Given the description of an element on the screen output the (x, y) to click on. 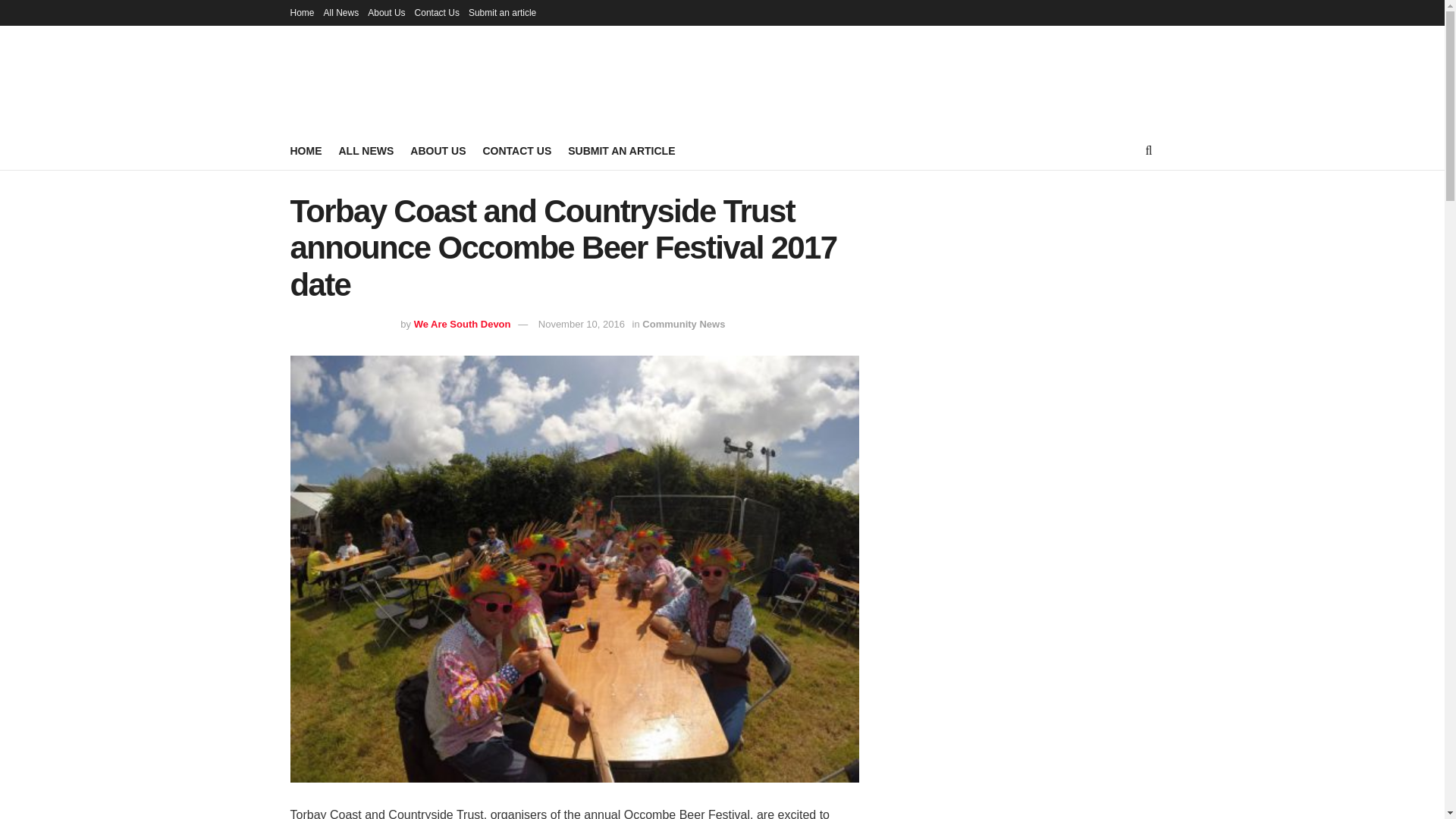
Contact Us (437, 12)
About Us (386, 12)
CONTACT US (516, 150)
November 10, 2016 (581, 324)
HOME (305, 150)
Submit an article (501, 12)
All News (341, 12)
We Are South Devon (462, 324)
ALL NEWS (365, 150)
Home (301, 12)
